Given the description of an element on the screen output the (x, y) to click on. 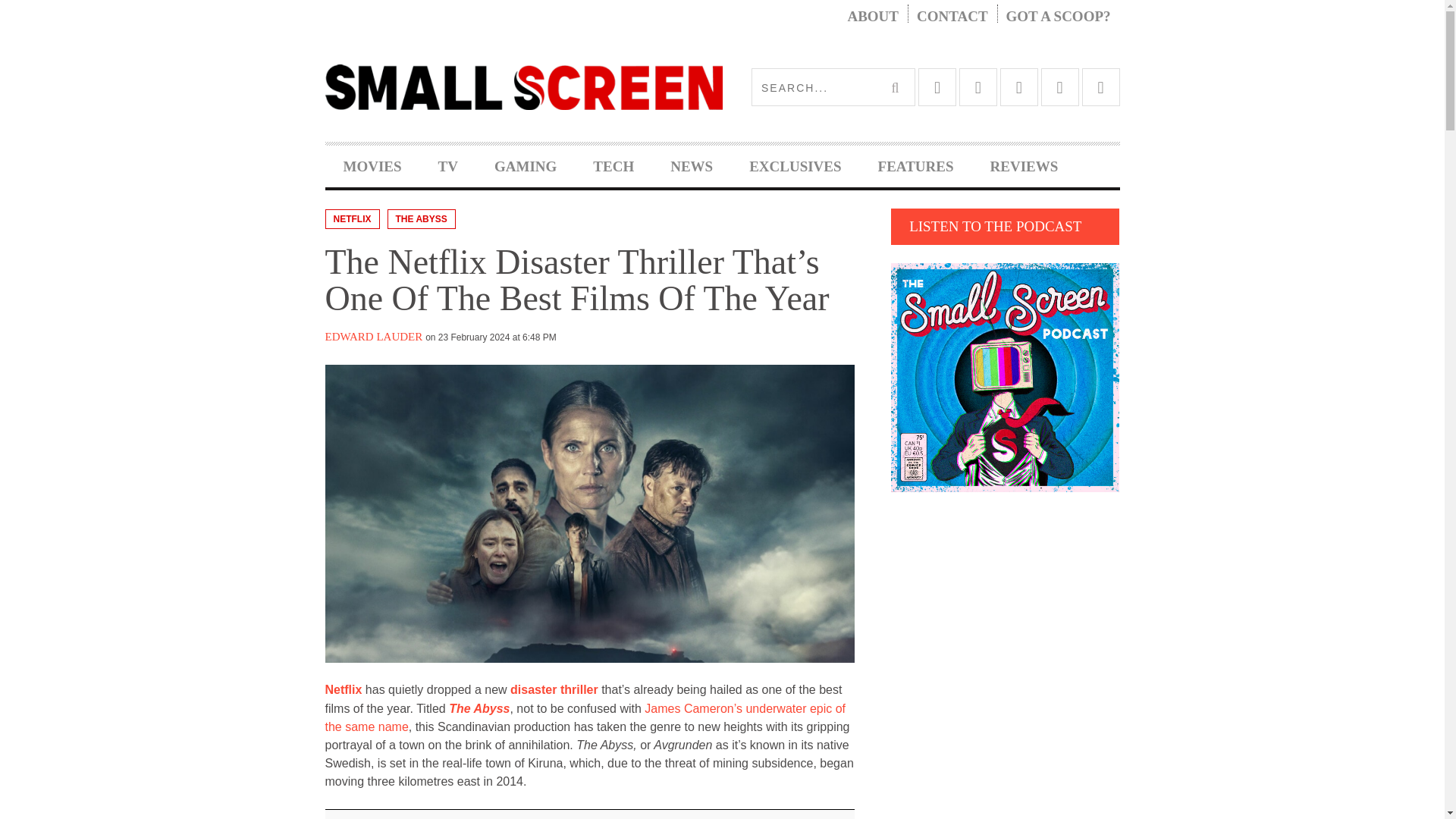
CONTACT (952, 16)
Small Screen (523, 86)
GOT A SCOOP? (1058, 16)
Listen To The Podcast (1005, 376)
ABOUT (872, 16)
Posts by Edward Lauder (373, 336)
